Given the description of an element on the screen output the (x, y) to click on. 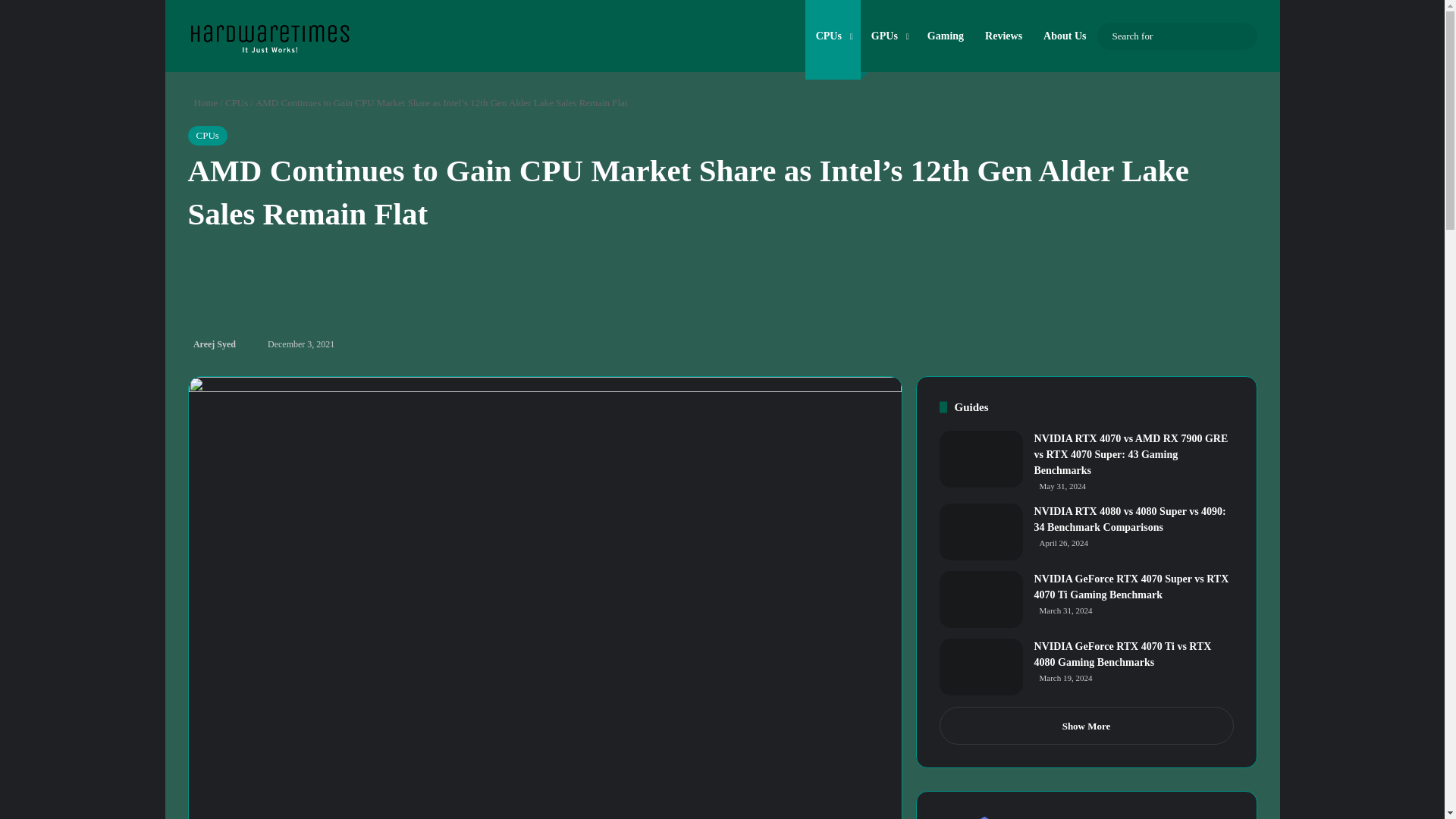
CPUs (236, 102)
GPUs (888, 36)
Reviews (1003, 36)
CPUs (207, 135)
Follow on X (240, 344)
Gaming (945, 36)
Home (202, 102)
Areej Syed (211, 344)
Search for (1242, 35)
CPUs (832, 36)
Follow on Twitter (240, 344)
Hardware Times (268, 34)
About Us (1064, 36)
